Given the description of an element on the screen output the (x, y) to click on. 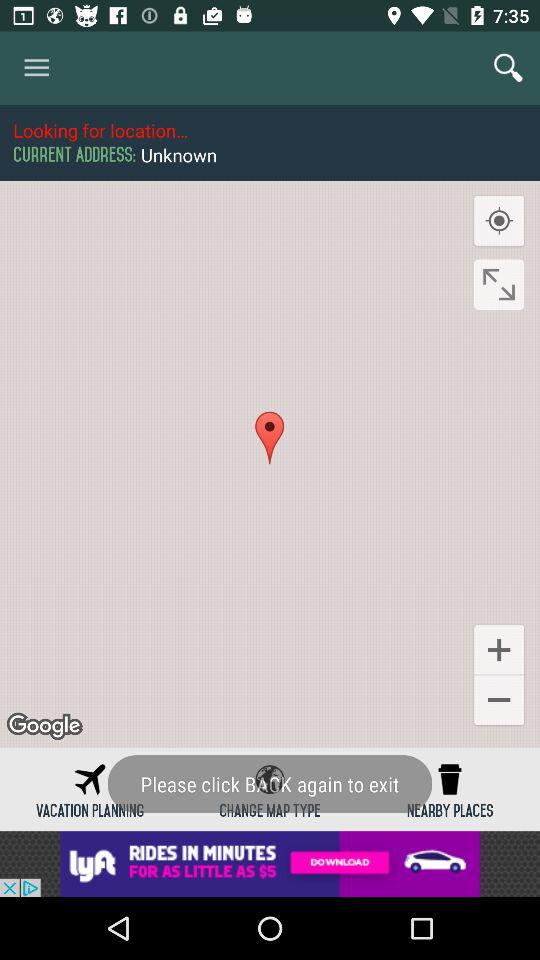
go to add (270, 864)
